Given the description of an element on the screen output the (x, y) to click on. 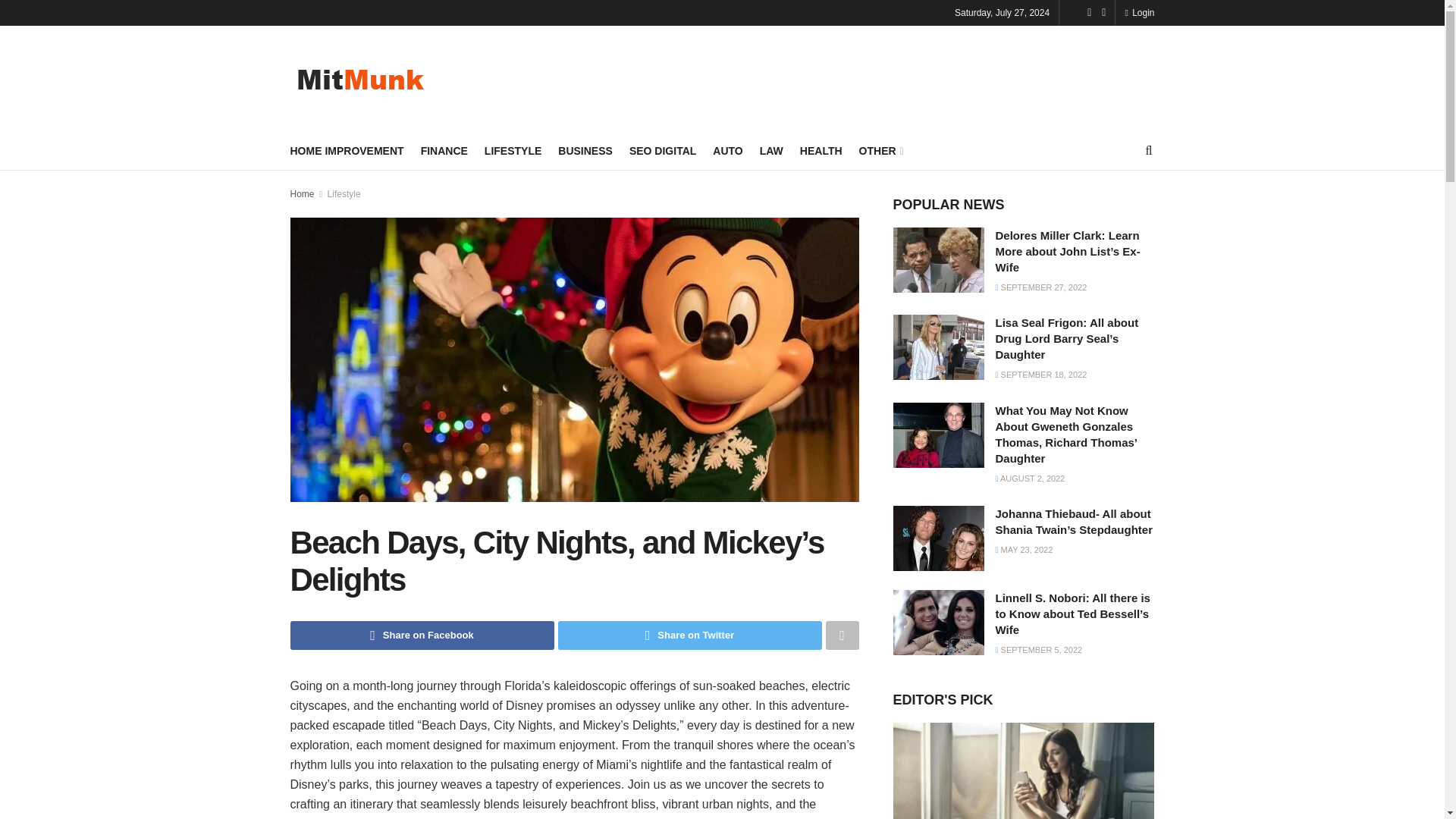
BUSINESS (584, 150)
SEO DIGITAL (661, 150)
FINANCE (443, 150)
OTHER (880, 150)
Login (1139, 12)
AUTO (727, 150)
HOME IMPROVEMENT (346, 150)
HEALTH (821, 150)
LAW (771, 150)
LIFESTYLE (512, 150)
